Given the description of an element on the screen output the (x, y) to click on. 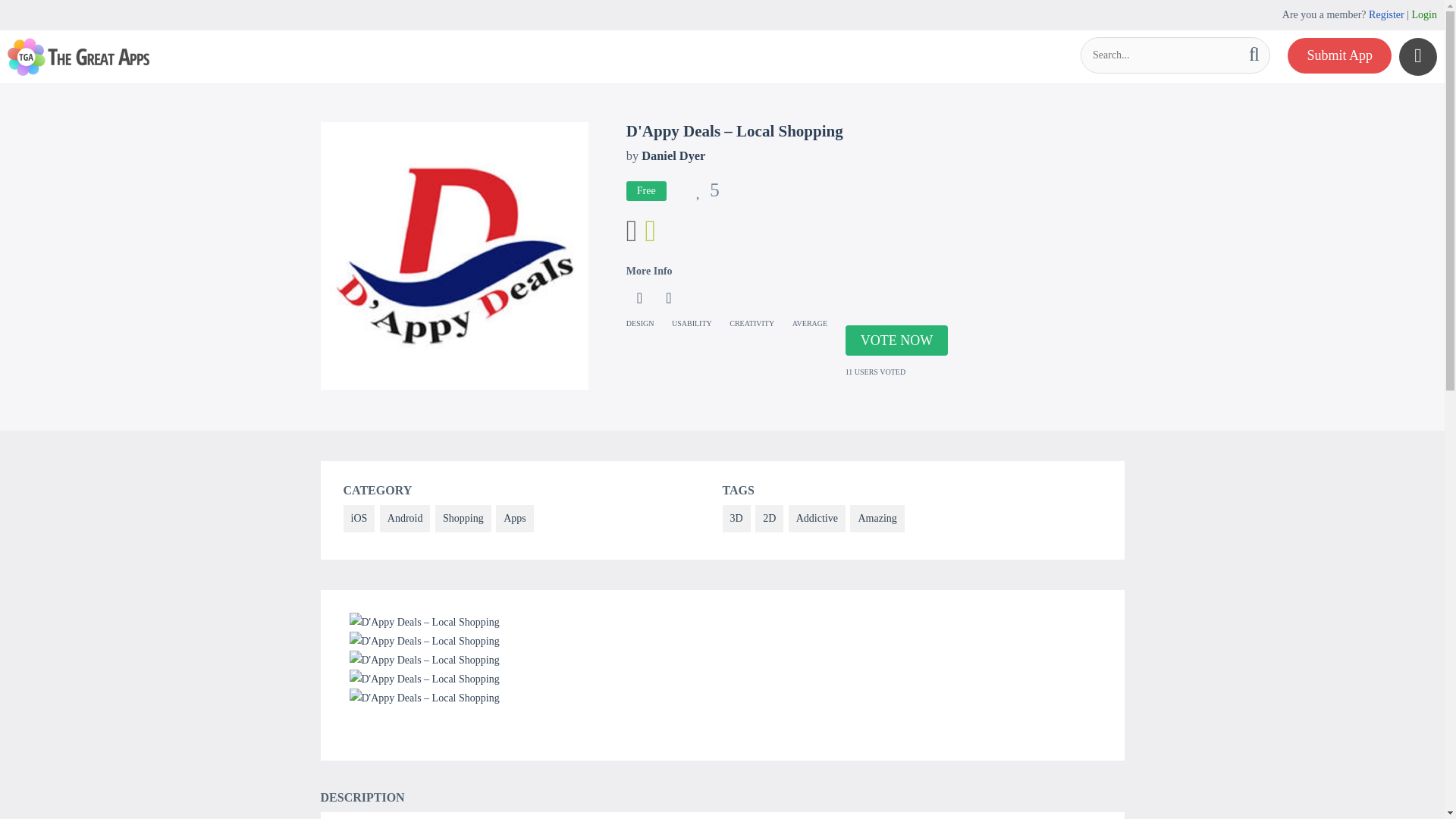
Login (1424, 14)
The Great Apps (78, 56)
Favourite (707, 193)
Submit App (1339, 55)
Register (1386, 14)
